Given the description of an element on the screen output the (x, y) to click on. 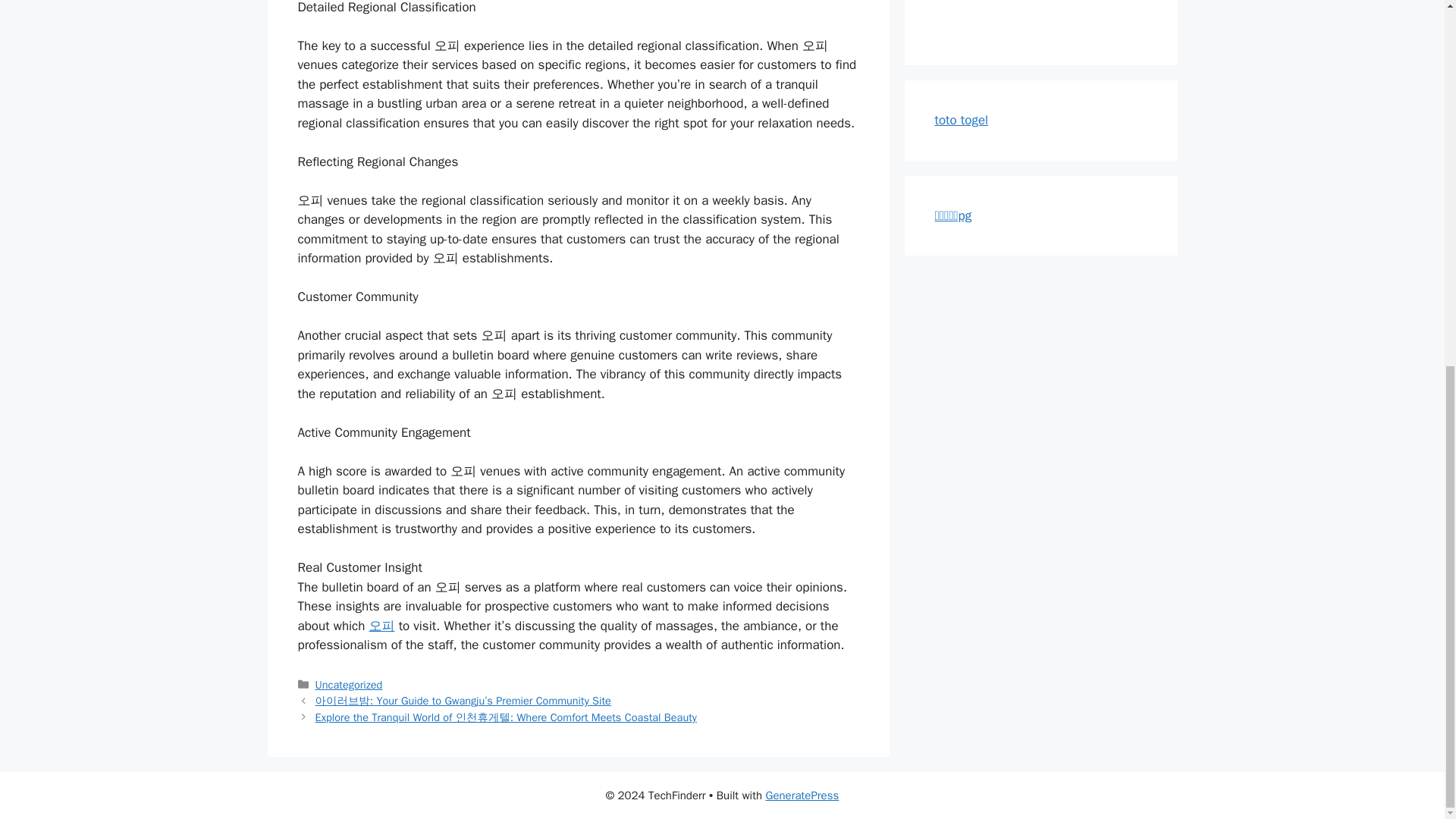
toto togel (961, 119)
Uncategorized (348, 684)
GeneratePress (802, 795)
